Given the description of an element on the screen output the (x, y) to click on. 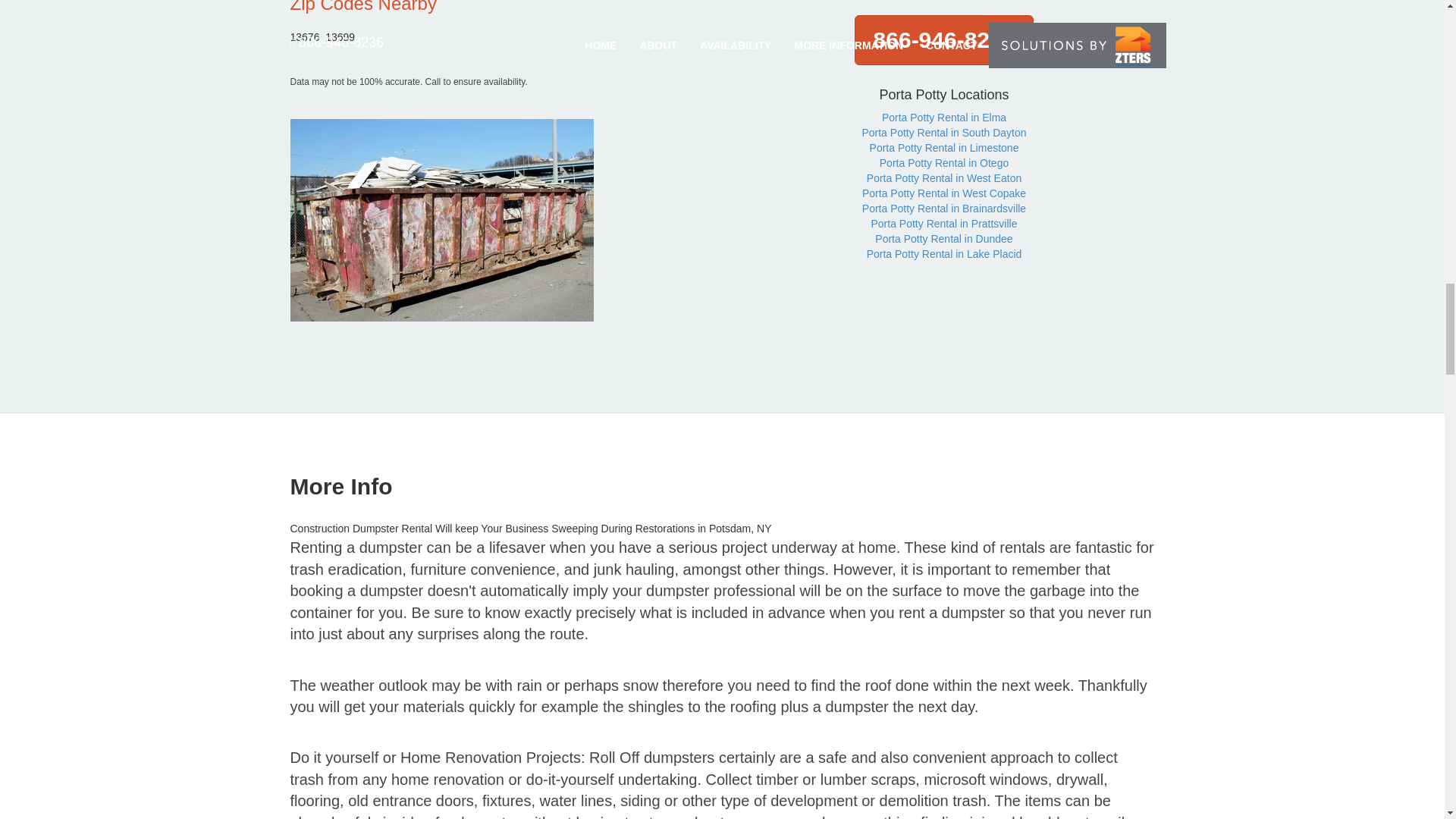
Porta Potty Rental in Otego (944, 162)
Porta Potty Rental in Prattsville (943, 223)
Porta Potty Rental in Lake Placid (944, 254)
Porta Potty Rental in South Dayton (943, 132)
Porta Potty Rental in West Eaton (944, 177)
Porta Potty Rental in Dundee (943, 238)
866-946-8236 (943, 40)
Porta Potty Rental in Limestone (944, 147)
Porta Potty Rental in Elma (944, 117)
Porta Potty Rental in Brainardsville (943, 208)
